Given the description of an element on the screen output the (x, y) to click on. 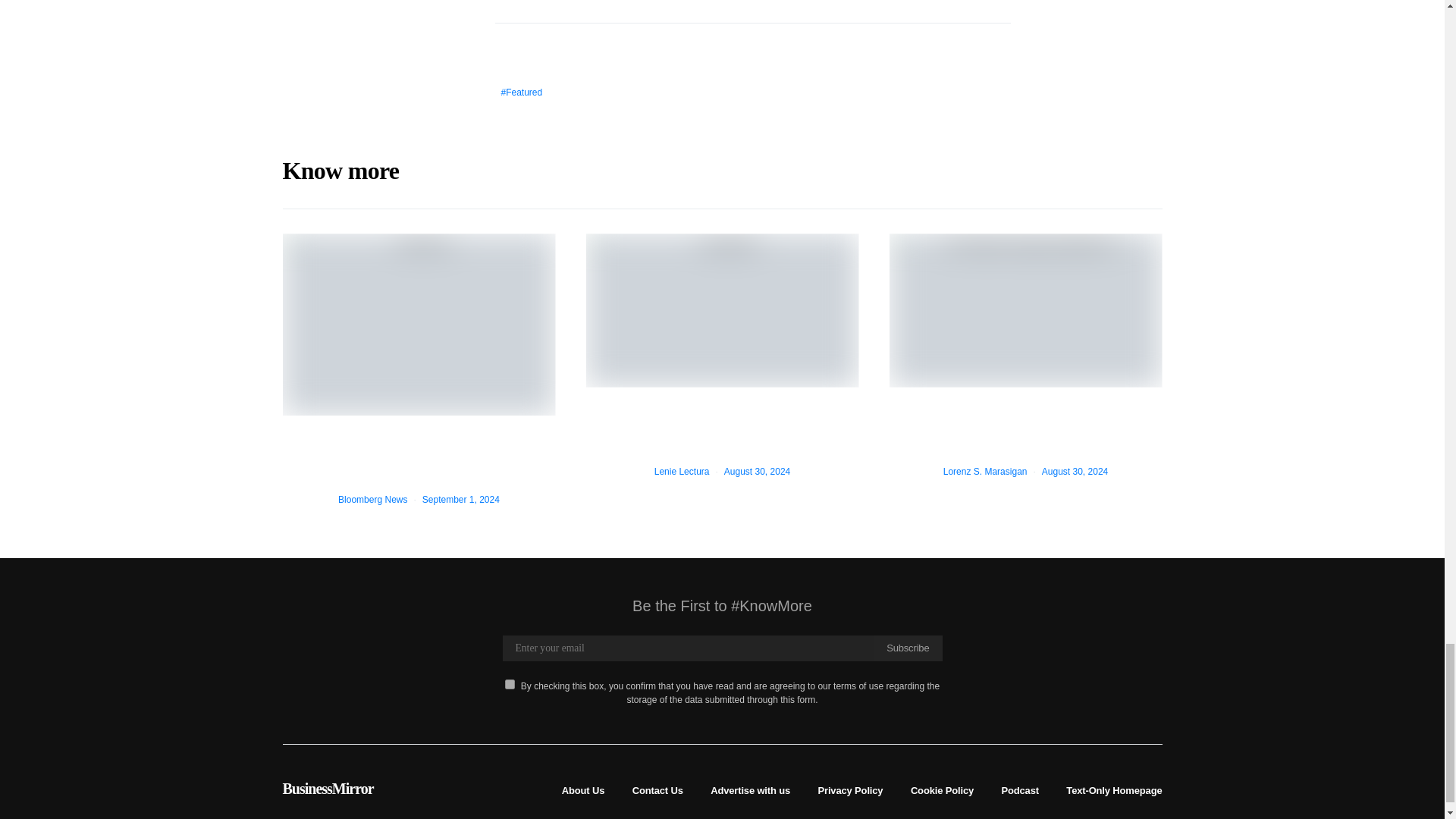
View all posts by Lorenz S. Marasigan (985, 471)
View all posts by Lenie Lectura (681, 471)
View all posts by Bloomberg News (372, 499)
on (510, 684)
